Given the description of an element on the screen output the (x, y) to click on. 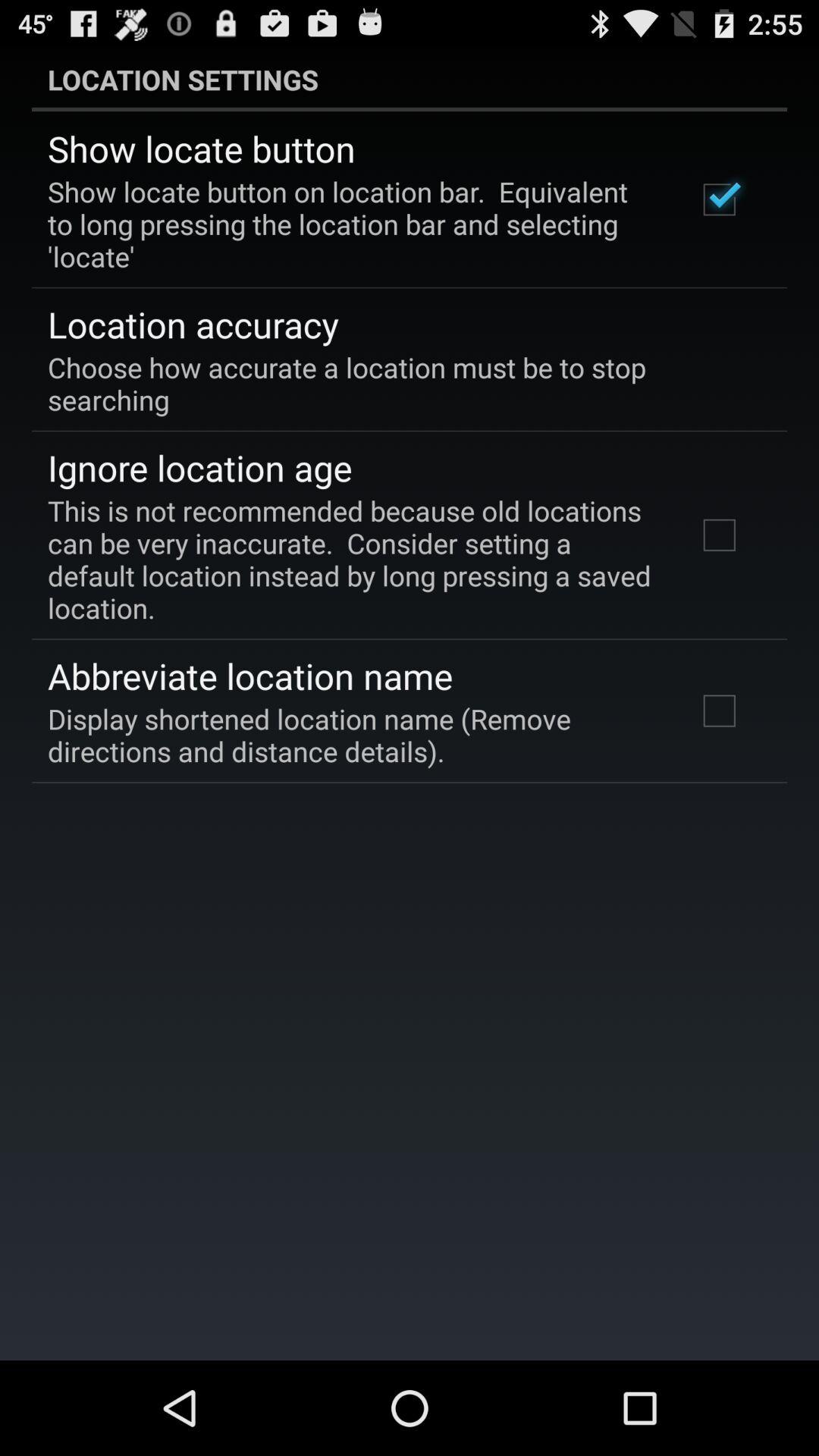
select abbreviate location name (249, 675)
